Given the description of an element on the screen output the (x, y) to click on. 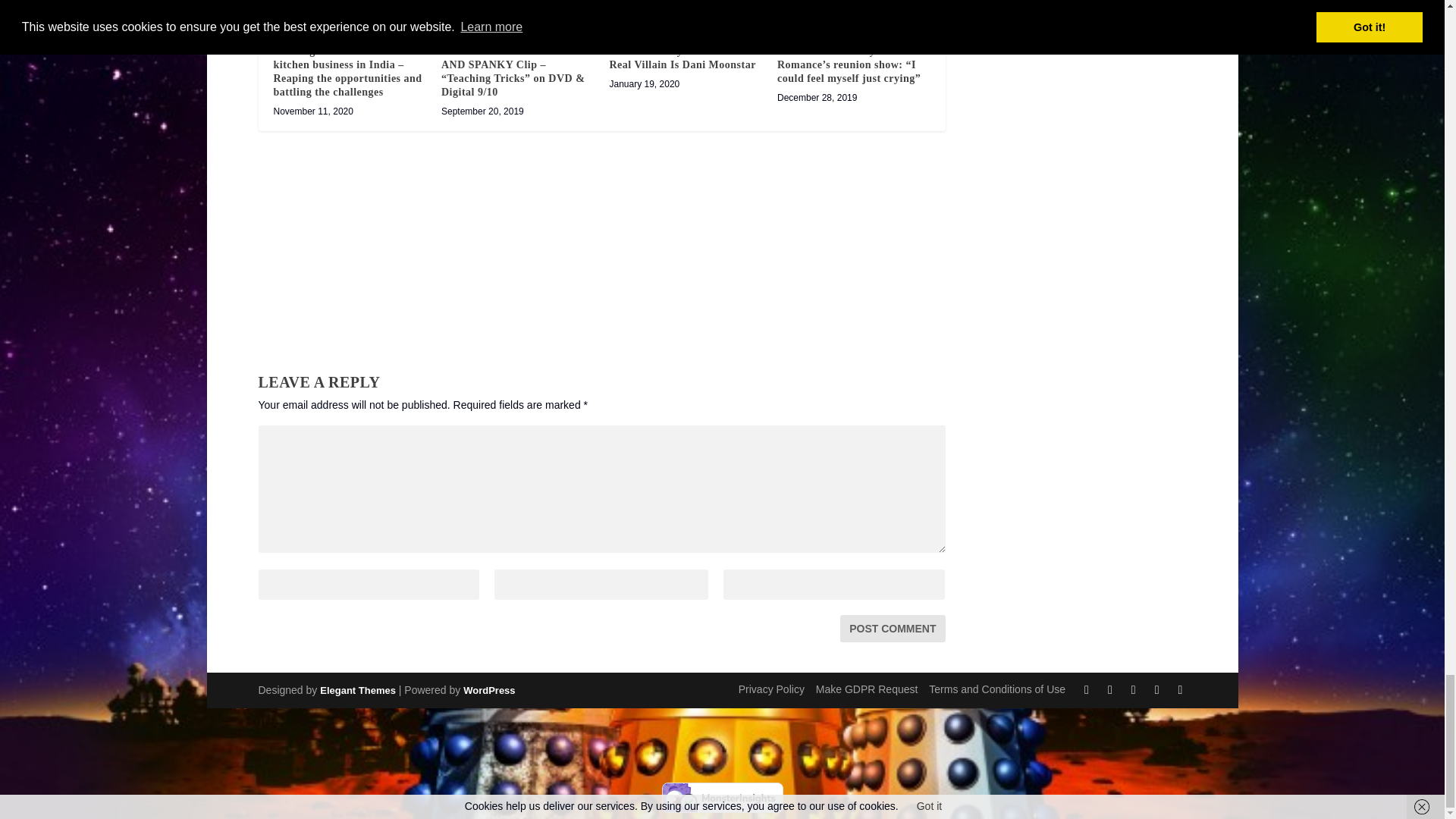
Post Comment (892, 628)
